Given the description of an element on the screen output the (x, y) to click on. 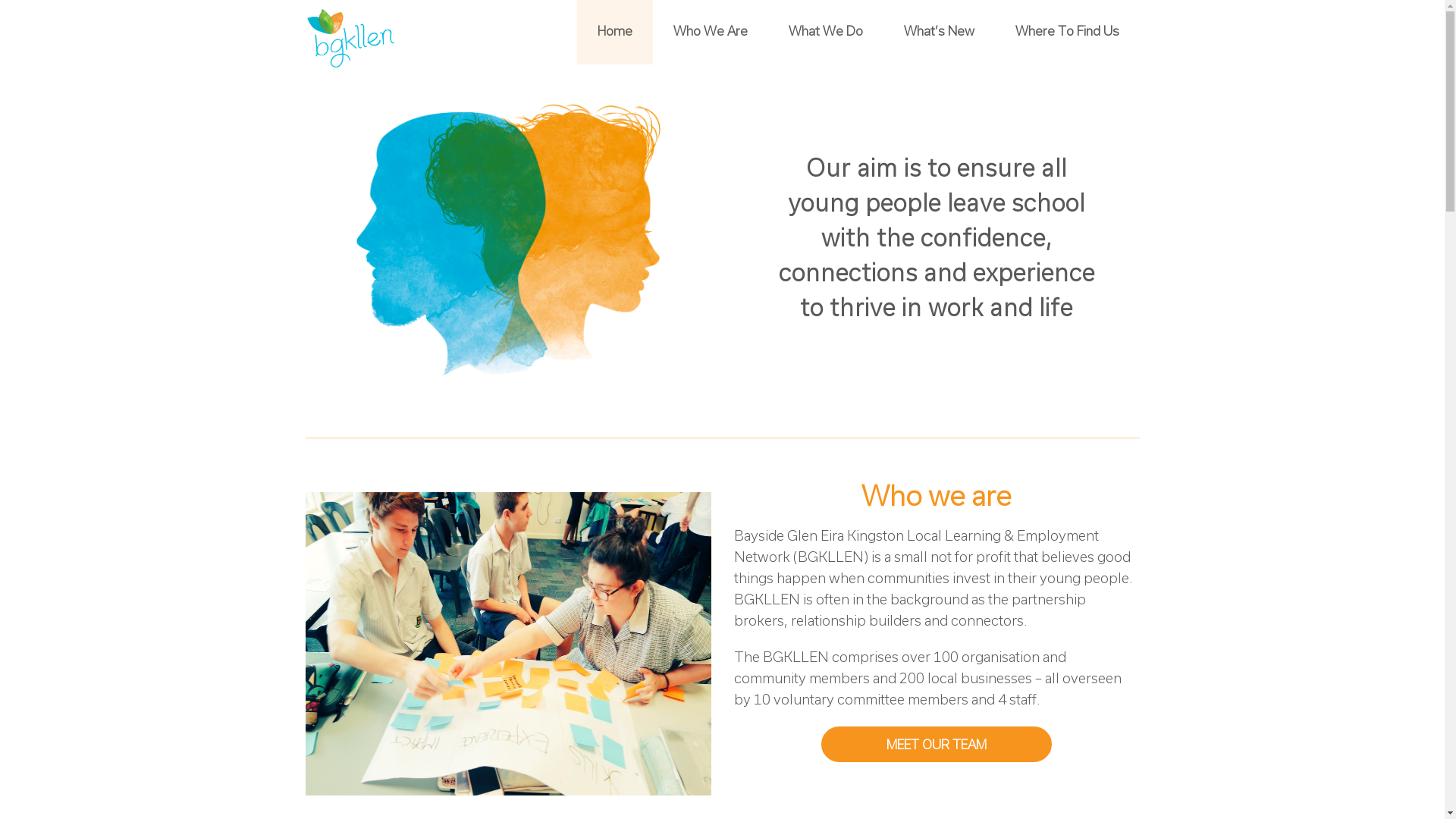
What We Do Element type: text (825, 32)
Who We Are Element type: text (709, 32)
Home Element type: text (613, 32)
Where To Find Us Element type: text (1067, 32)
MEET OUR TEAM Element type: text (936, 744)
